Given the description of an element on the screen output the (x, y) to click on. 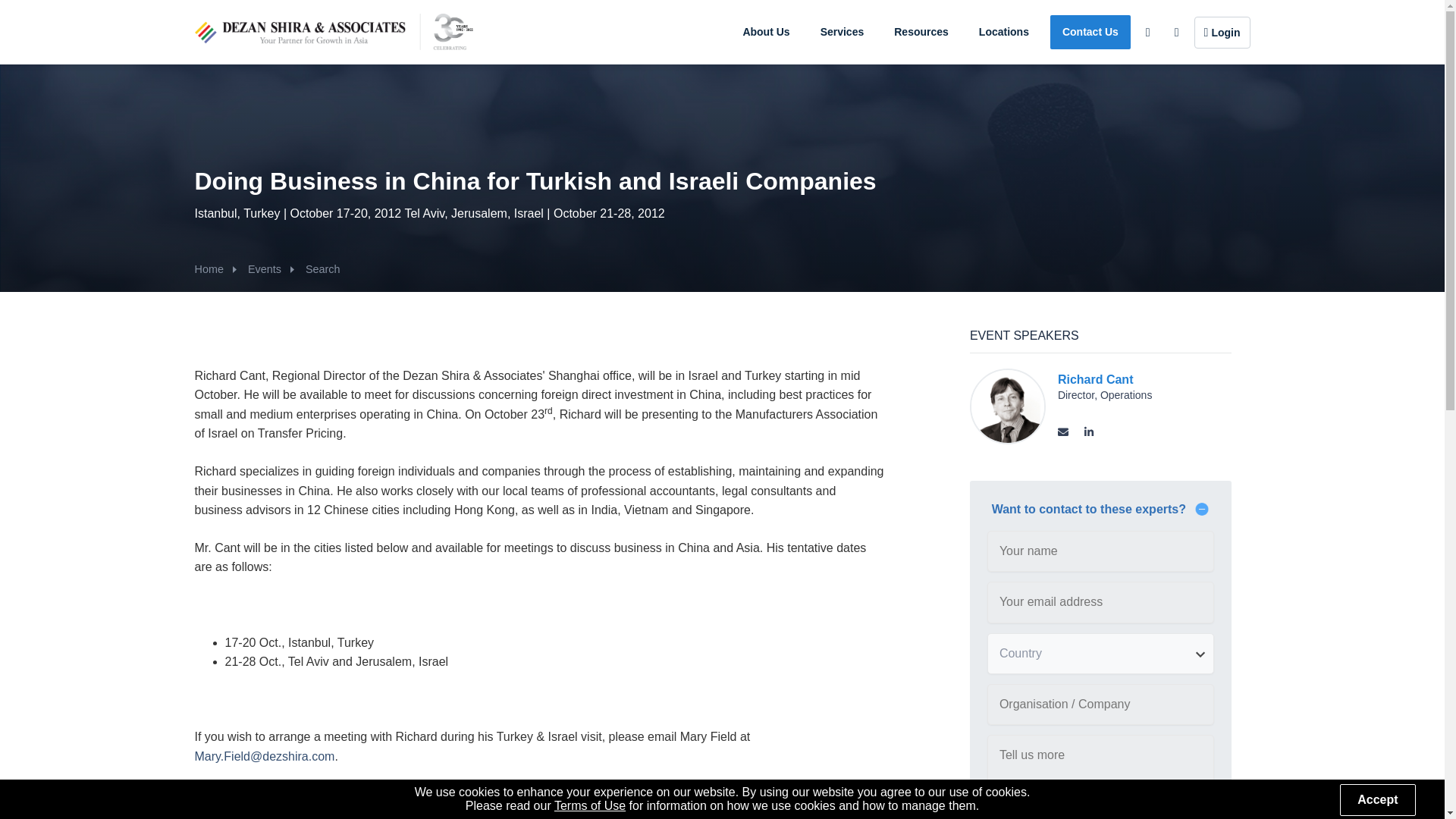
About Us (765, 32)
Services (842, 32)
